Given the description of an element on the screen output the (x, y) to click on. 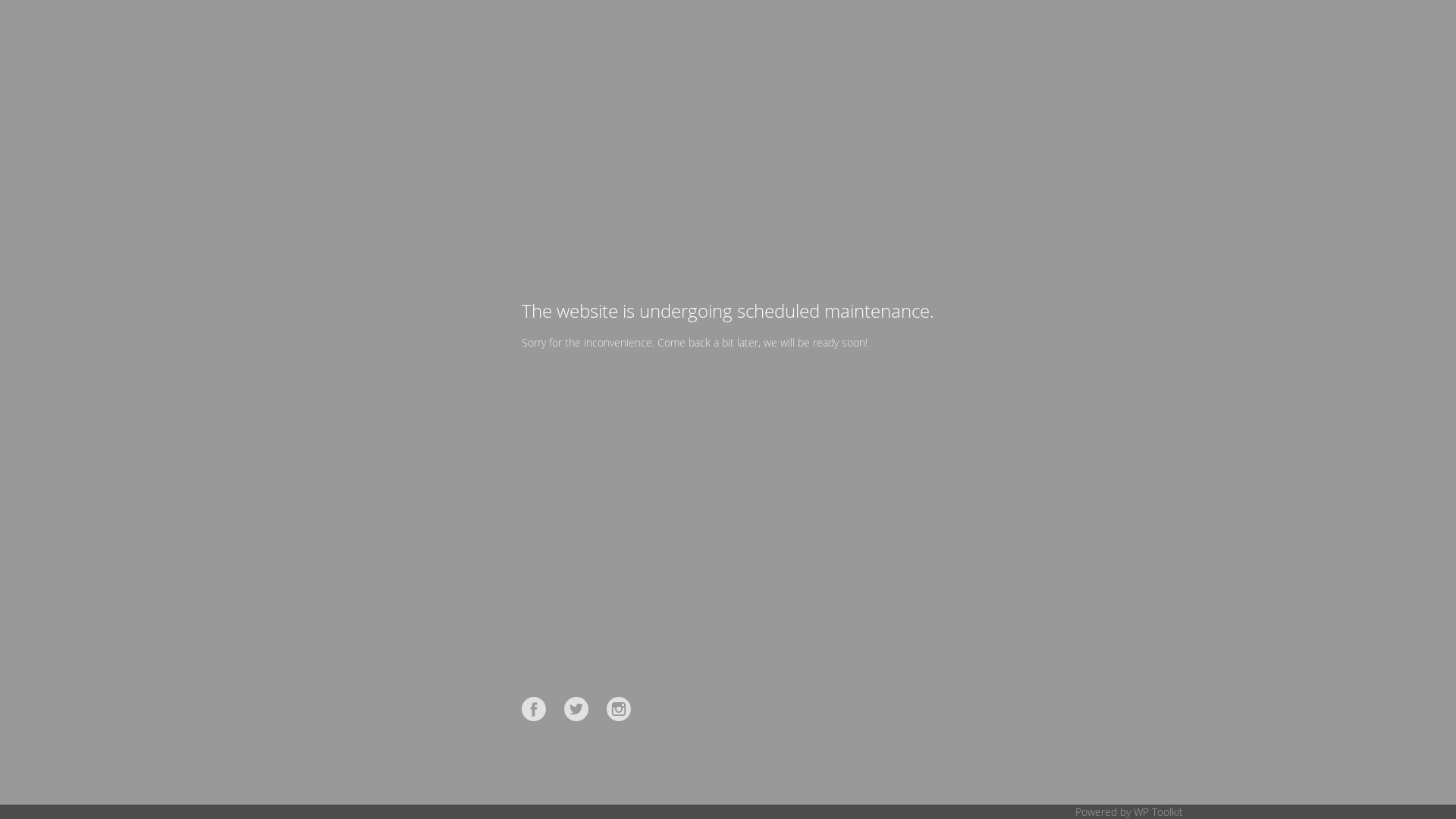
Facebook Element type: hover (533, 708)
Twitter Element type: hover (576, 708)
Instagram Element type: hover (618, 708)
